Given the description of an element on the screen output the (x, y) to click on. 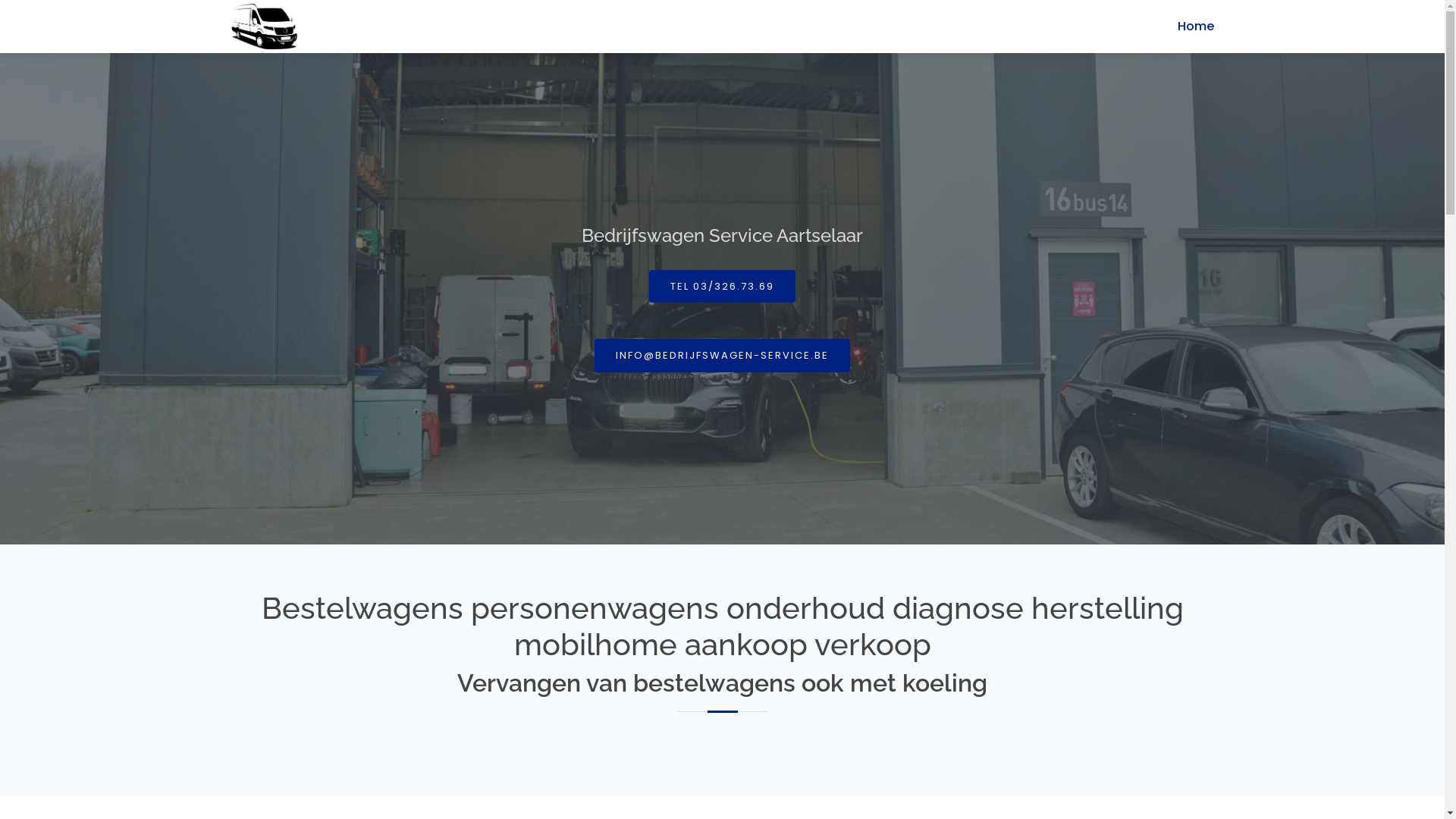
Home Element type: text (1183, 26)
INFO@BEDRIJFSWAGEN-SERVICE.BE Element type: text (722, 355)
TEL 03/326.73.69 Element type: text (722, 286)
Bedrijfswagen Service Aartselaar Element type: hover (263, 26)
